Given the description of an element on the screen output the (x, y) to click on. 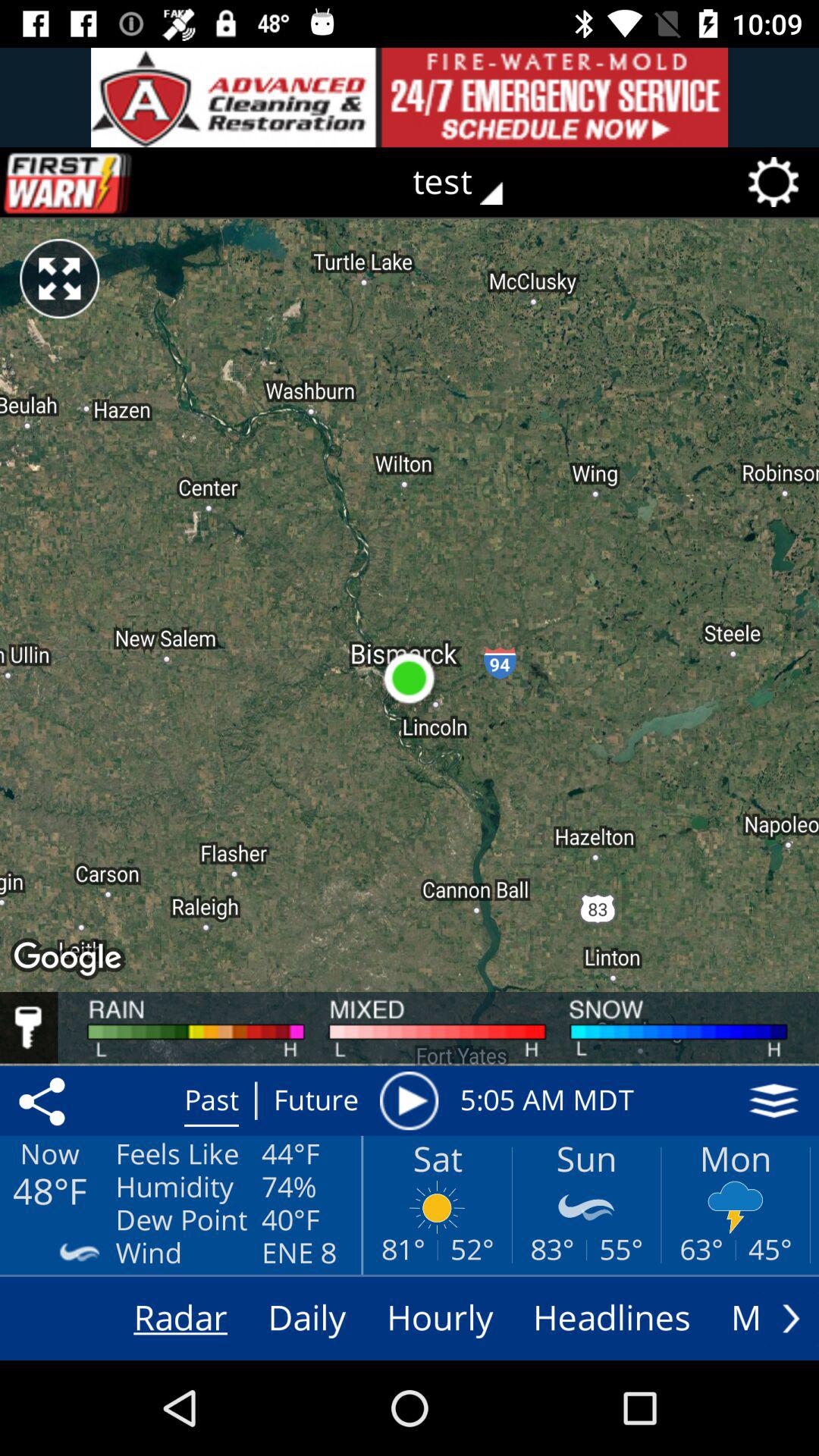
advertisement (409, 97)
